Given the description of an element on the screen output the (x, y) to click on. 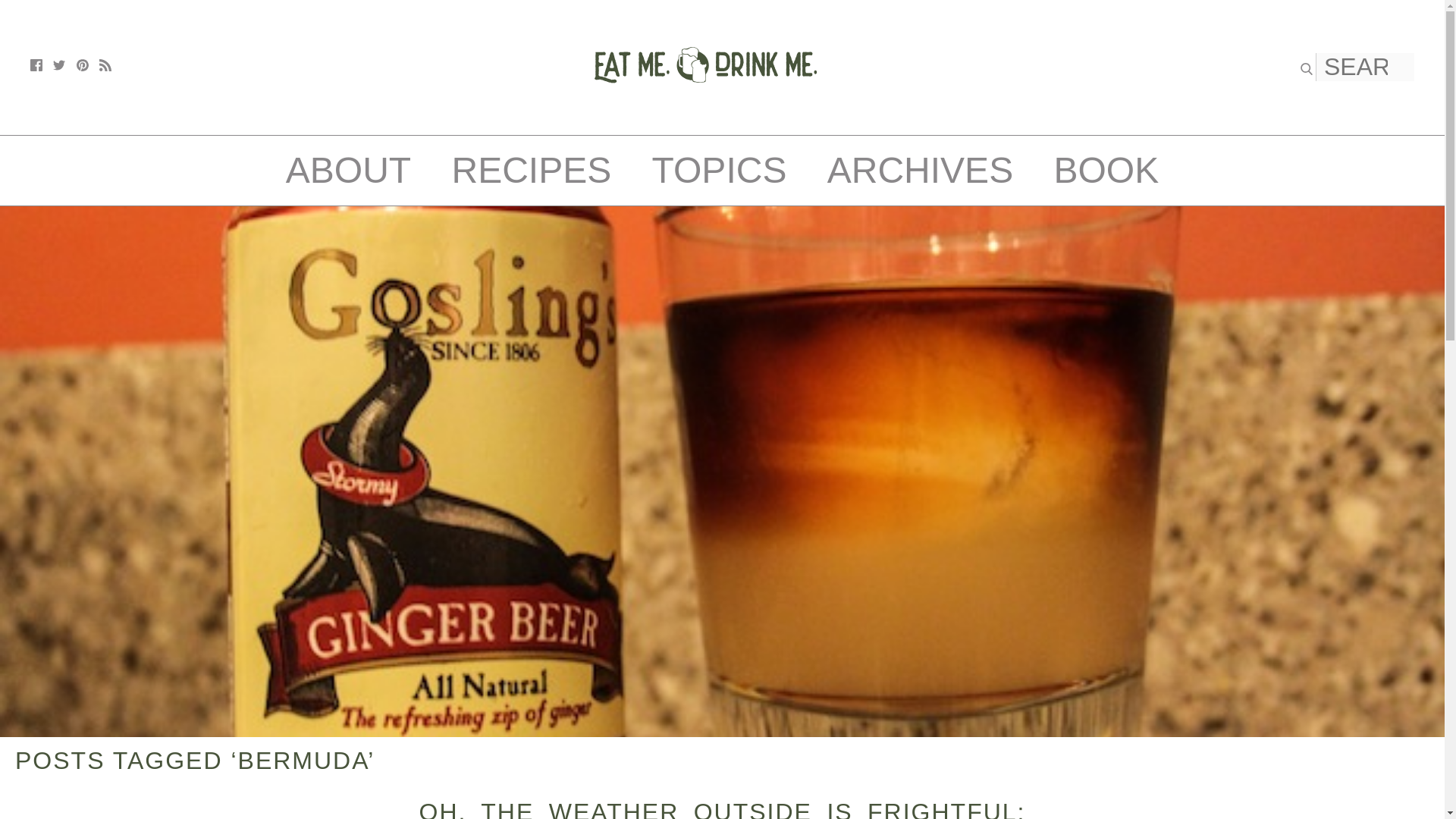
BLOGLOVIN' (105, 64)
FACEBOOK (36, 64)
BLOGLOVIN' (105, 64)
RECIPES (531, 169)
EAT ME DRINK ME LOGO (705, 64)
BOOK (1105, 169)
TWITTER (58, 64)
ARCHIVES (920, 169)
ABOUT (347, 169)
PINTEREST (82, 64)
TOPICS (719, 169)
EAT ME DRINK ME LOGO (705, 117)
FACEBOOK (36, 64)
PINTEREST (82, 64)
TWITTER (58, 64)
